Given the description of an element on the screen output the (x, y) to click on. 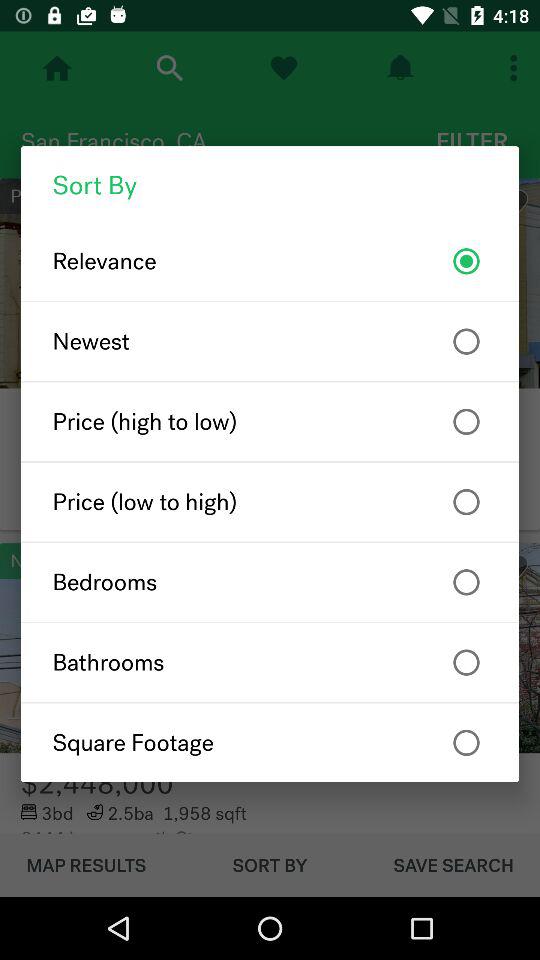
click the icon above bathrooms (270, 582)
